Given the description of an element on the screen output the (x, y) to click on. 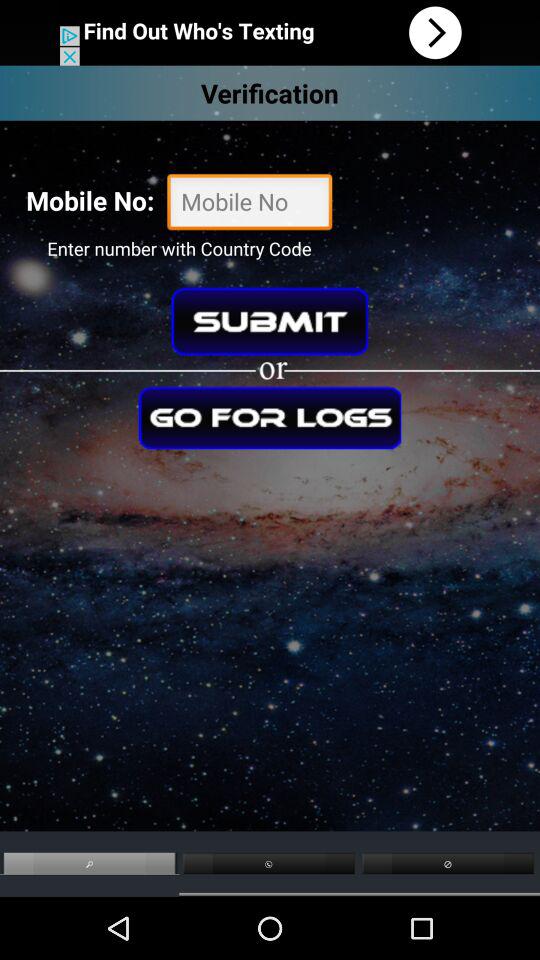
download app (270, 32)
